Given the description of an element on the screen output the (x, y) to click on. 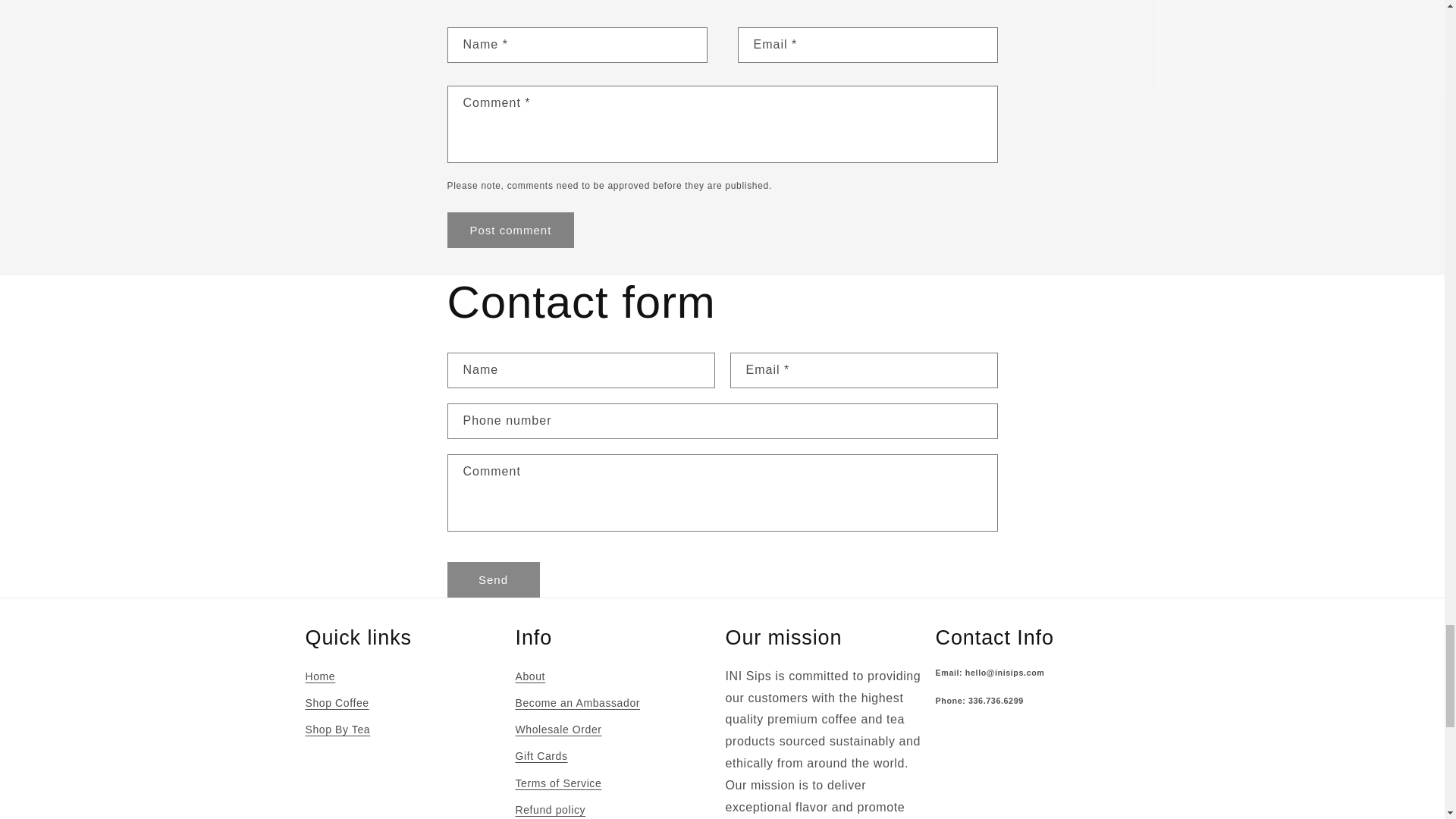
Post comment (510, 230)
